Given the description of an element on the screen output the (x, y) to click on. 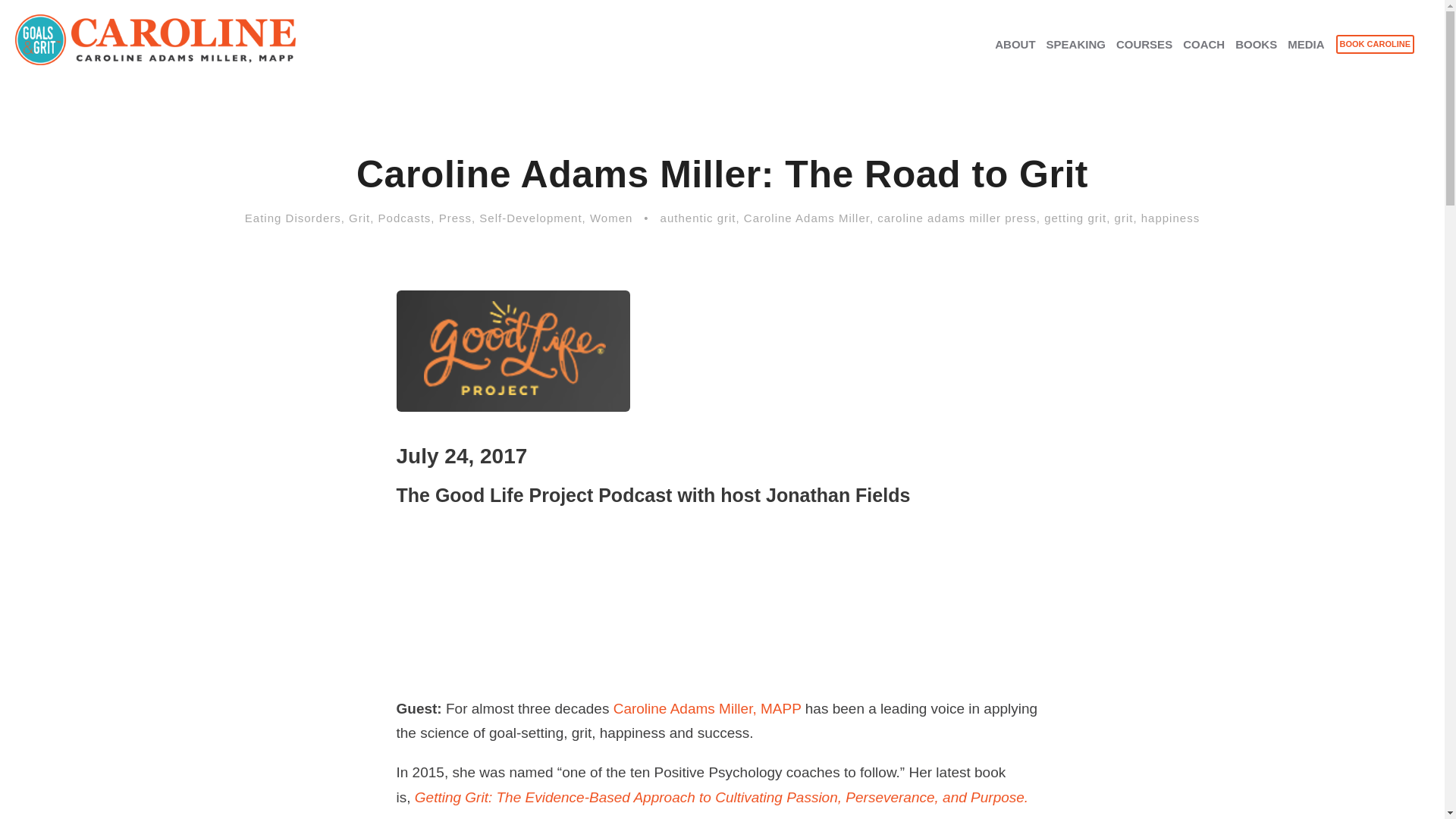
COACH (1203, 53)
SPEAKING (1075, 53)
ABOUT (1014, 53)
Caroline-logo (154, 39)
GLP Radio Good Life Project (512, 350)
COURSES (1144, 53)
